Given the description of an element on the screen output the (x, y) to click on. 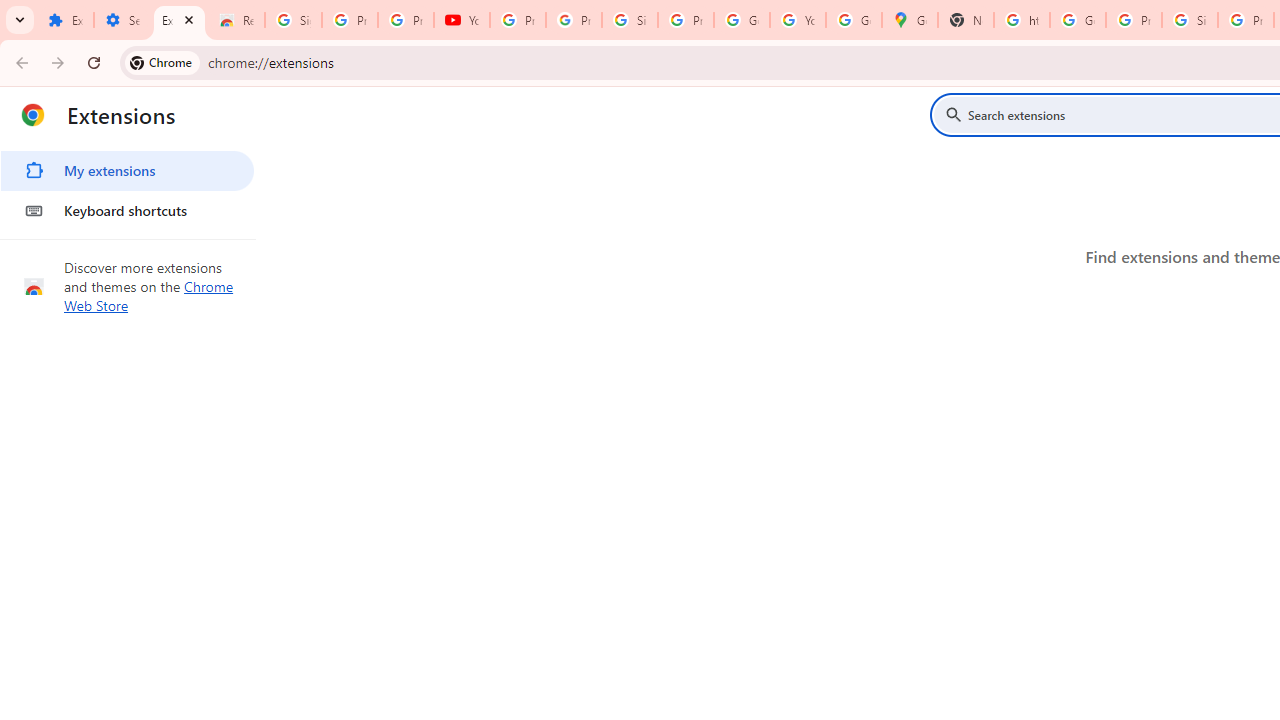
Keyboard shortcuts (127, 210)
Extensions (179, 20)
New Tab (966, 20)
Google Maps (909, 20)
AutomationID: sectionMenu (128, 187)
Sign in - Google Accounts (293, 20)
https://scholar.google.com/ (1021, 20)
YouTube (461, 20)
Reviews: Helix Fruit Jump Arcade Game (235, 20)
Sign in - Google Accounts (629, 20)
